Given the description of an element on the screen output the (x, y) to click on. 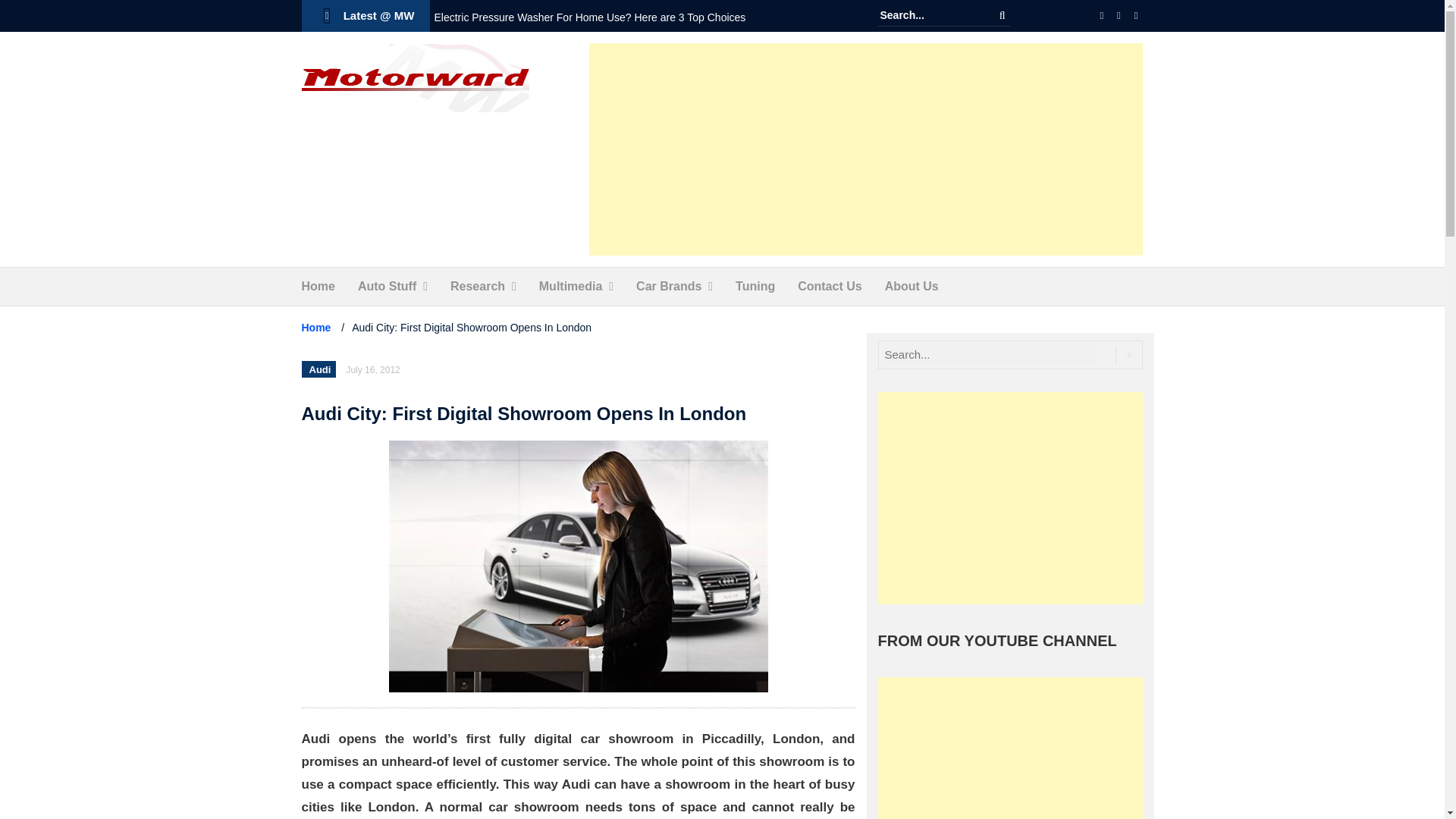
Audi City 1 (577, 566)
Car Brands (668, 286)
Research (477, 286)
Auto Stuff (387, 286)
Home (317, 286)
Advertisement (865, 149)
Multimedia (570, 286)
Search   (1002, 14)
